Given the description of an element on the screen output the (x, y) to click on. 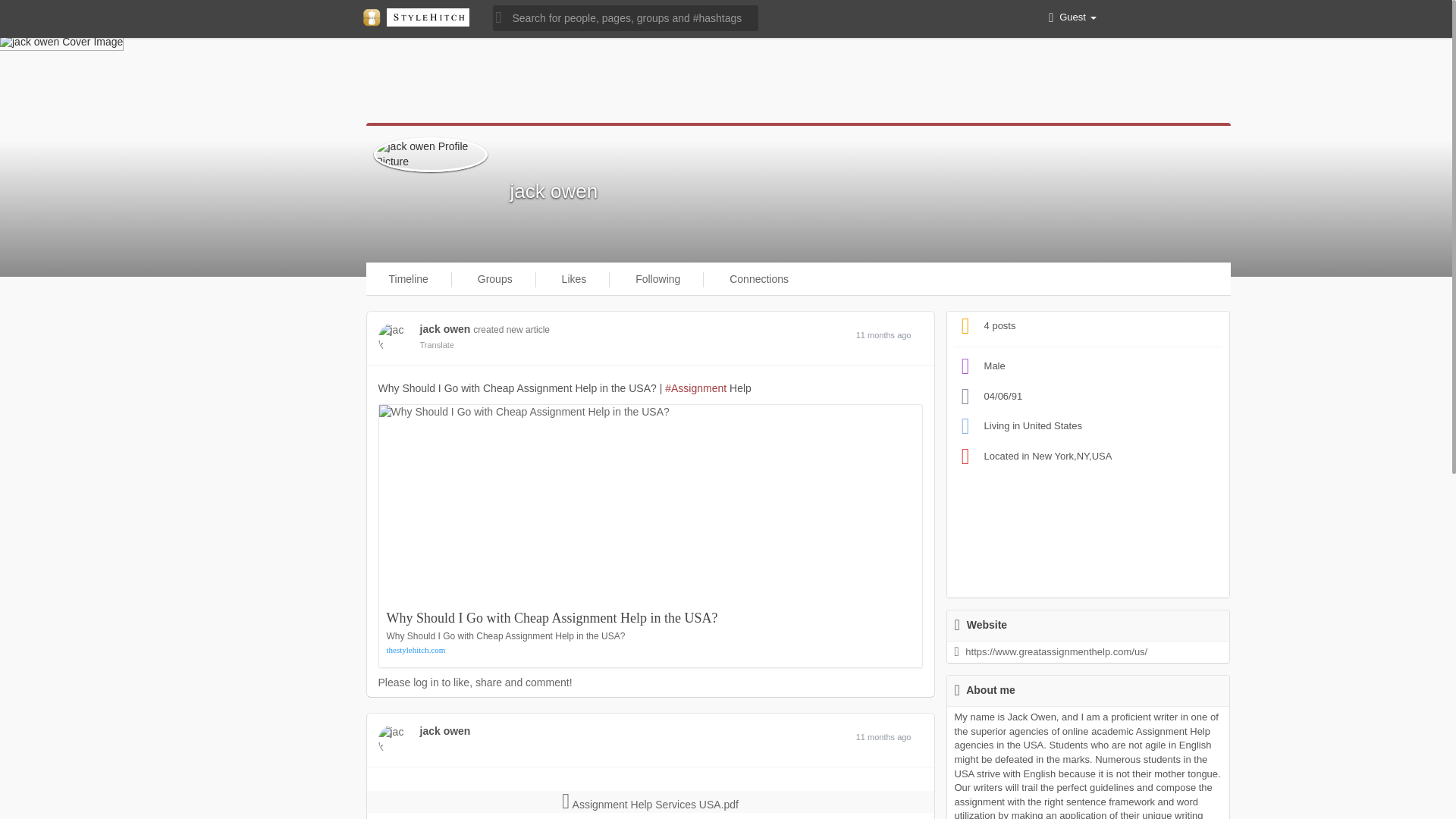
Connections (758, 279)
jack owen (448, 328)
11 months ago (883, 737)
Please log in to like, share and comment! (474, 682)
Translate (437, 344)
Following (657, 279)
Groups (494, 279)
jack owen (448, 730)
Likes (574, 279)
